Given the description of an element on the screen output the (x, y) to click on. 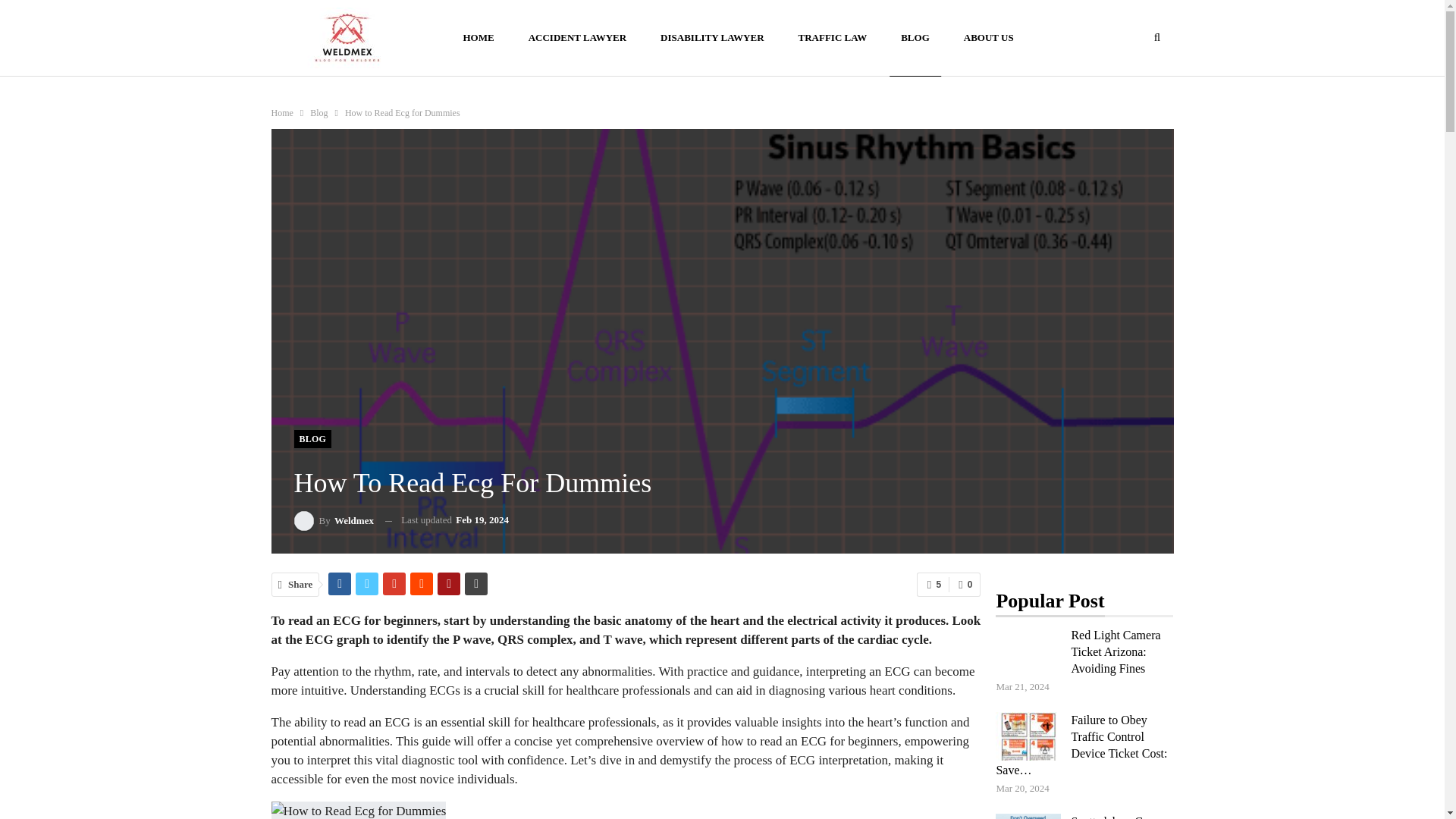
BLOG (312, 438)
Home (282, 112)
ABOUT US (988, 38)
TRAFFIC LAW (833, 38)
DISABILITY LAWYER (711, 38)
By Weldmex (334, 520)
Browse Author Articles (334, 520)
Blog (318, 112)
ACCIDENT LAWYER (576, 38)
0 (964, 584)
